Given the description of an element on the screen output the (x, y) to click on. 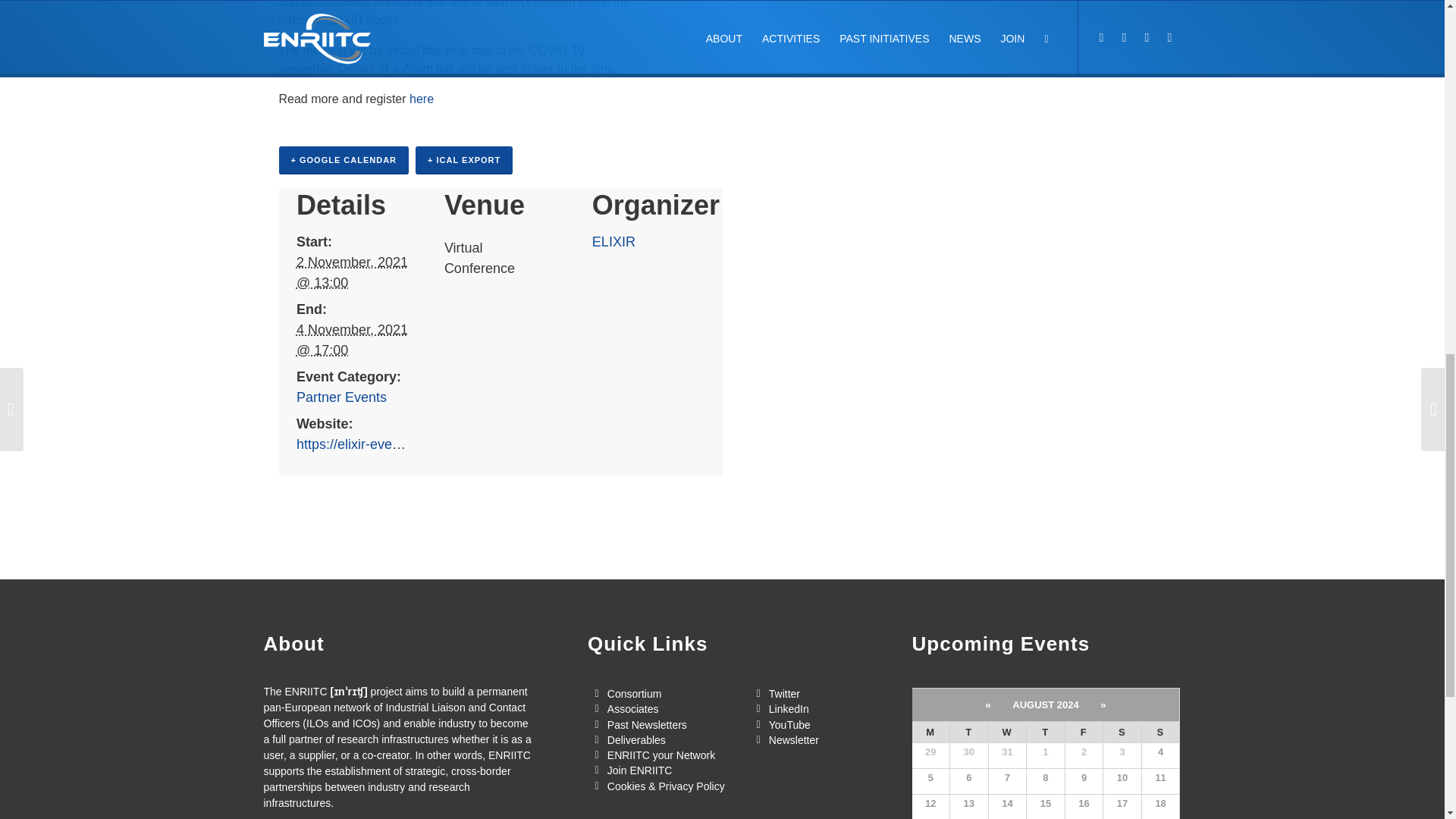
2021-11-04 (352, 339)
ELIXIR (613, 241)
2021-11-02 (352, 272)
Download .ics file (463, 160)
Add to Google Calendar (344, 160)
